Given the description of an element on the screen output the (x, y) to click on. 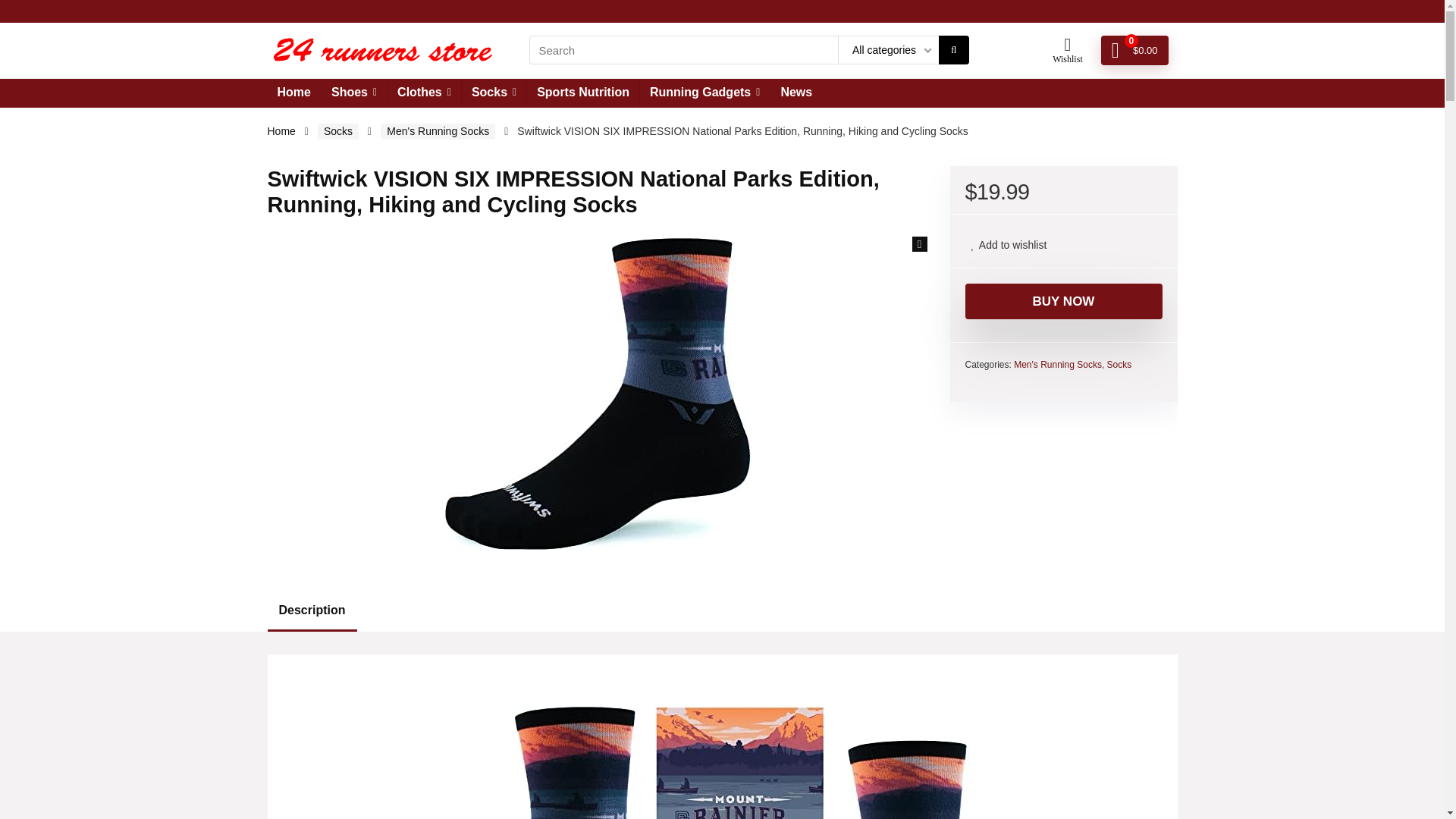
Home (293, 92)
Socks (493, 92)
Clothes (424, 92)
Running Gadgets (705, 92)
Shoes (354, 92)
Sports Nutrition (583, 92)
Description (721, 609)
